Given the description of an element on the screen output the (x, y) to click on. 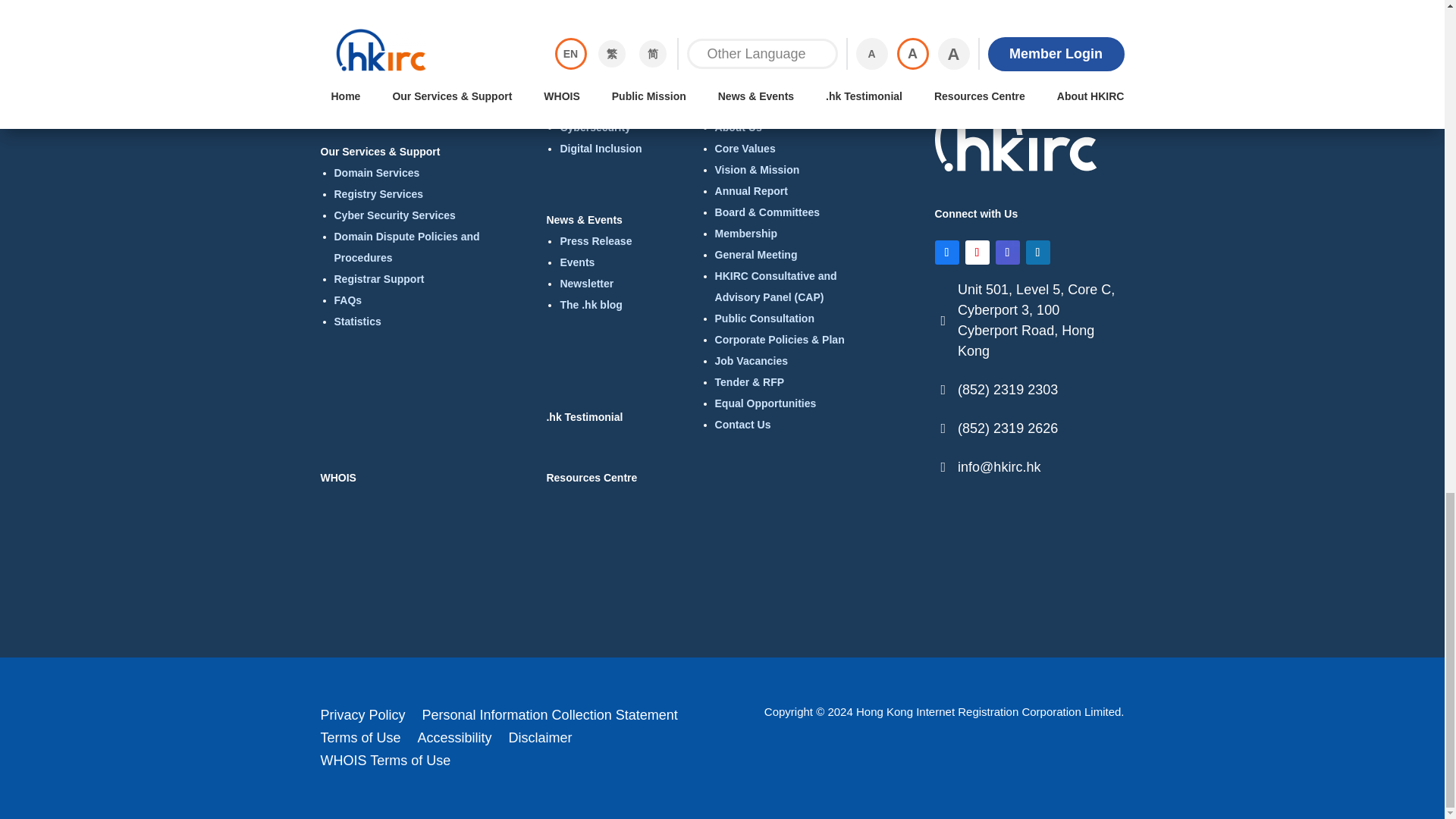
Follow on Instagram (1006, 252)
Follow on LinkedIn (1037, 252)
Follow on Youtube (975, 252)
Follow on Facebook (946, 252)
